Given the description of an element on the screen output the (x, y) to click on. 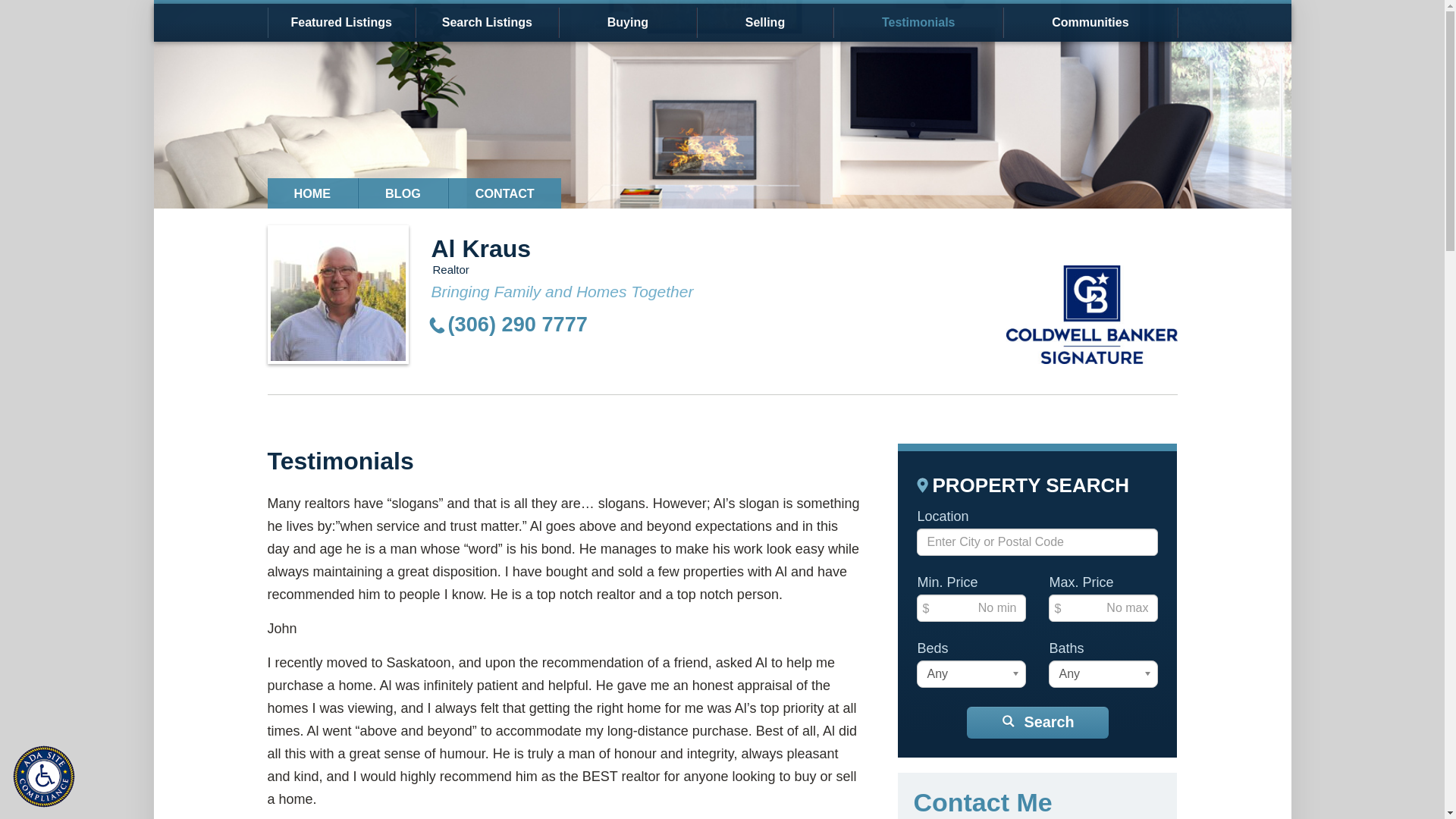
Search Listings (486, 22)
Accessibility Menu (47, 780)
Featured Listings (340, 22)
Accessibility Menu (43, 776)
